Given the description of an element on the screen output the (x, y) to click on. 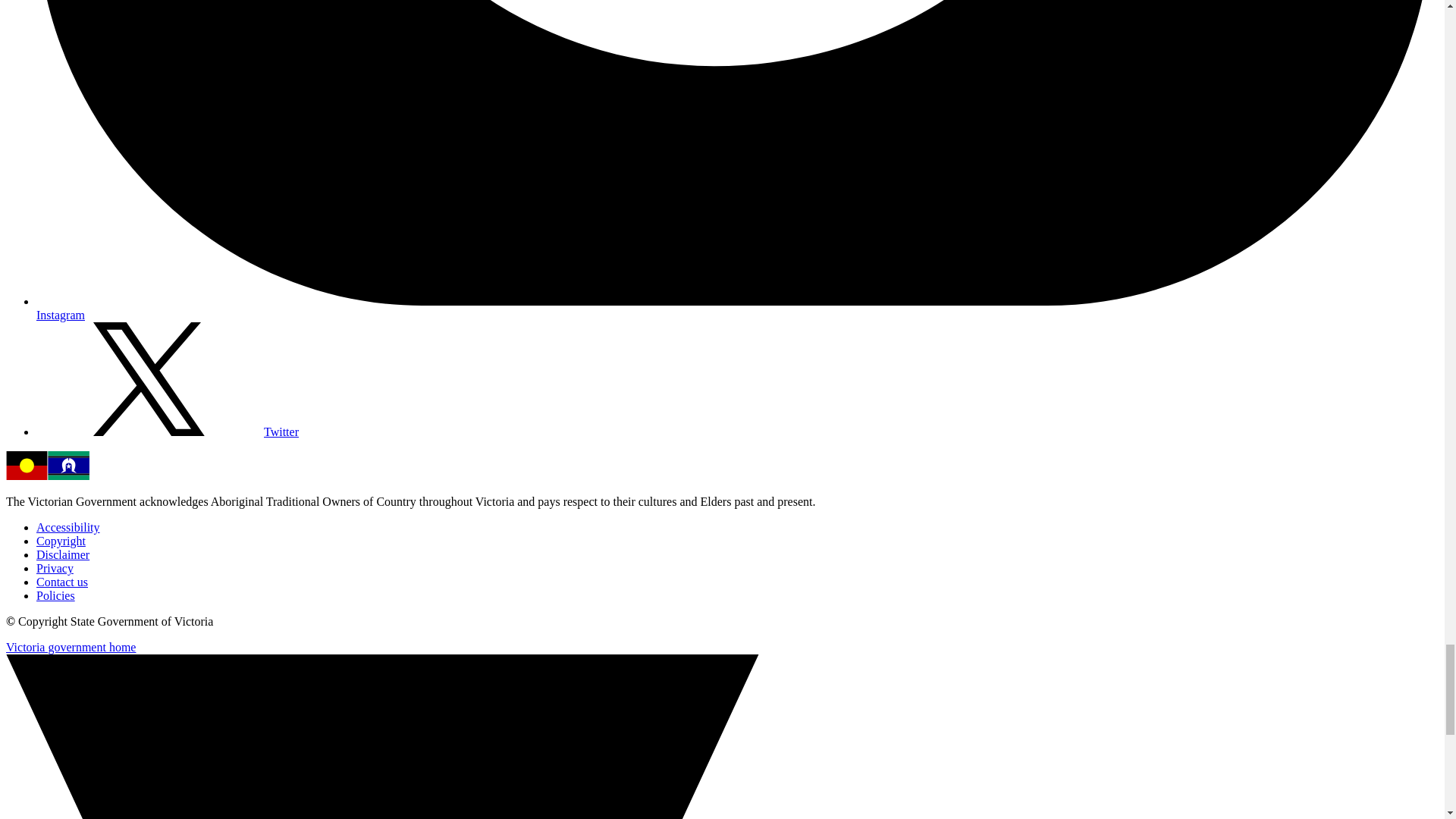
Twitter (167, 431)
Copyright (60, 540)
Disclaimer (62, 554)
Privacy (55, 567)
Contact us (61, 581)
Accessibility (68, 526)
Policies (55, 594)
